Given the description of an element on the screen output the (x, y) to click on. 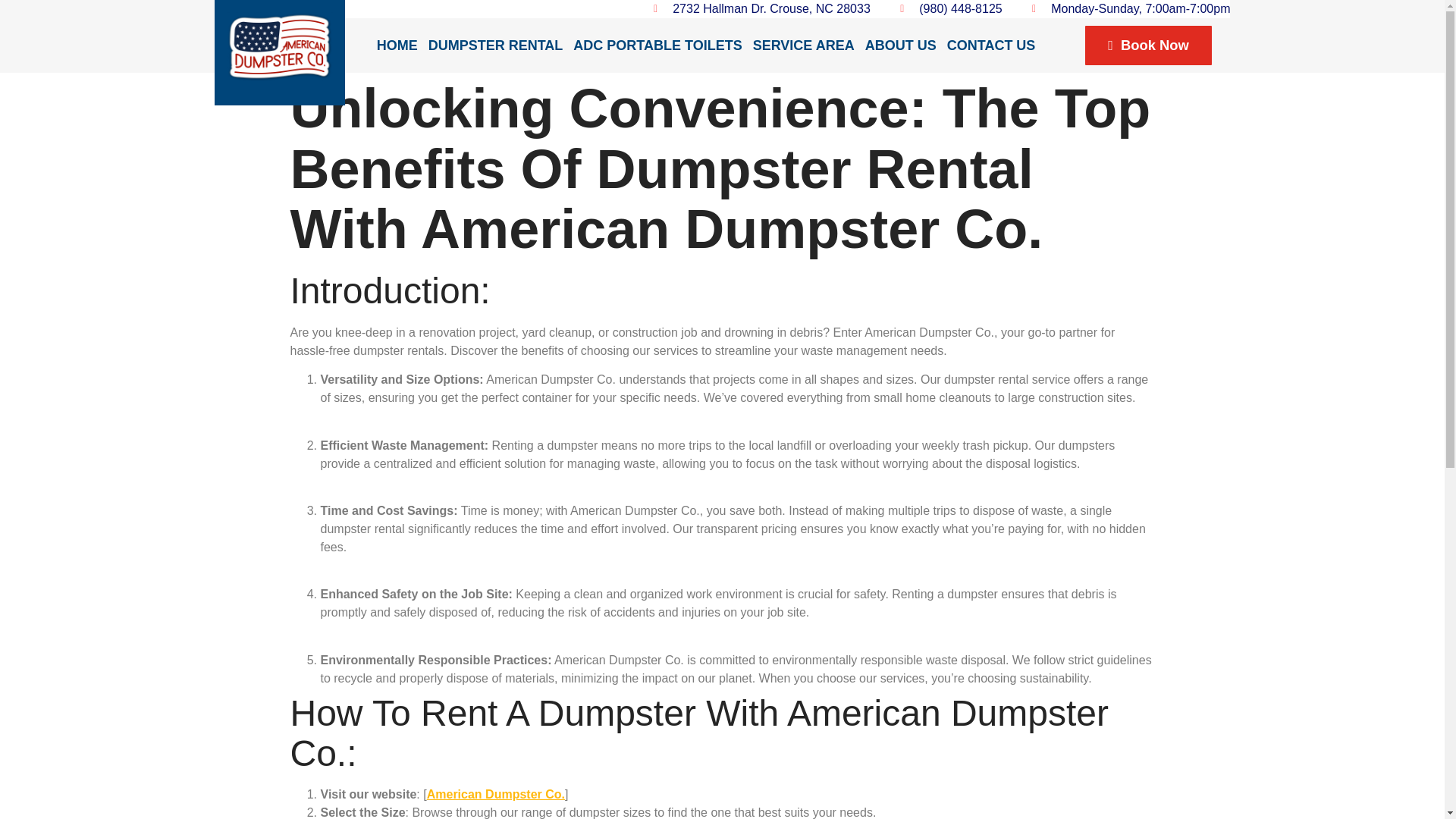
ADC PORTABLE TOILETS (656, 45)
SERVICE AREA (804, 45)
ABOUT US (901, 45)
HOME (397, 45)
Book Now (1147, 45)
CONTACT US (991, 45)
DUMPSTER RENTAL (496, 45)
